Given the description of an element on the screen output the (x, y) to click on. 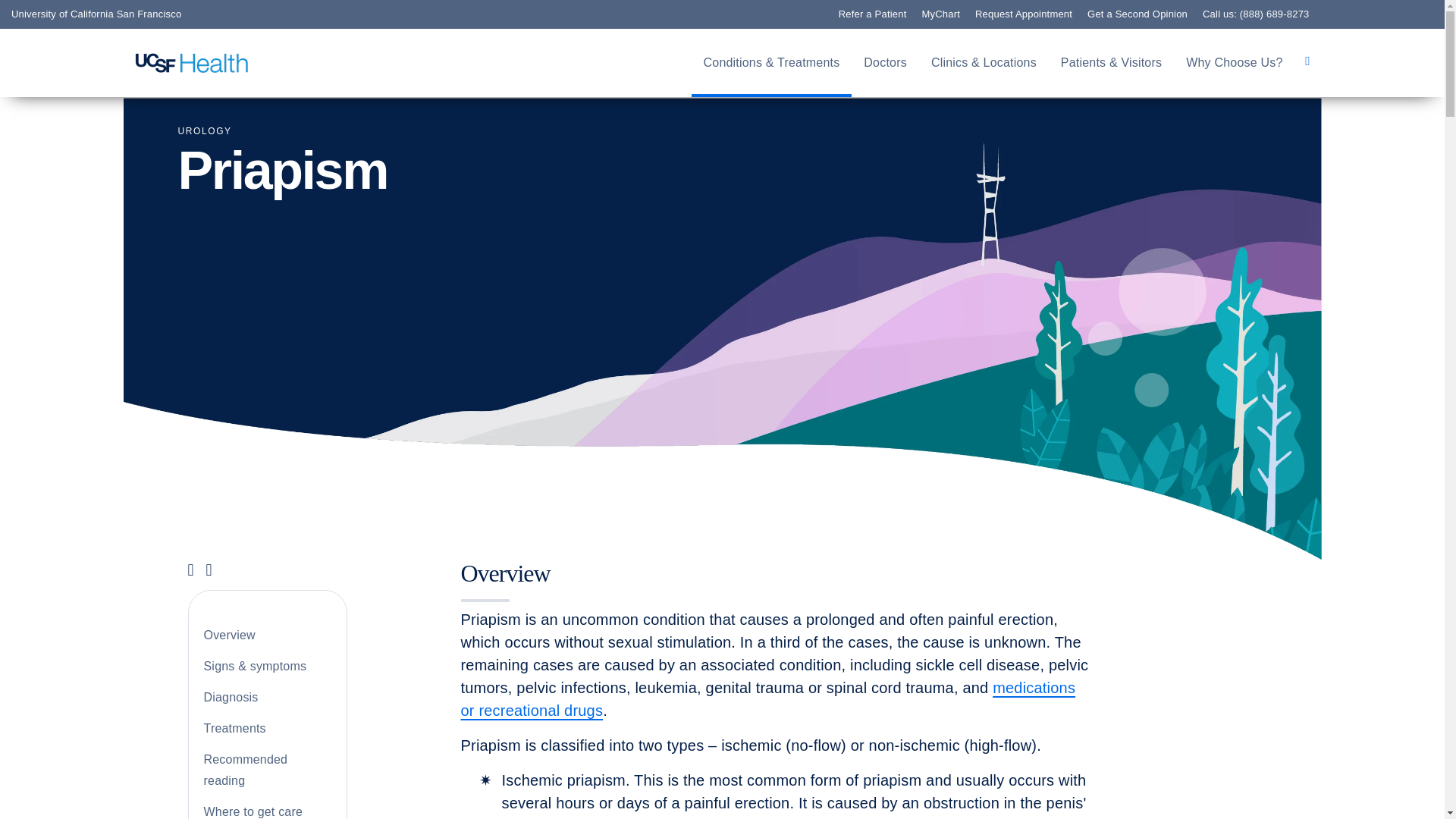
 Clinics (83, 265)
University of California San Francisco (95, 13)
University of California San Francisco (95, 13)
Urology (204, 131)
Find a Doctor (107, 220)
Doctors (884, 62)
 Refer a Patient (112, 242)
UCSF Home (191, 62)
 Conditions (97, 288)
 Treatments (99, 311)
